Given the description of an element on the screen output the (x, y) to click on. 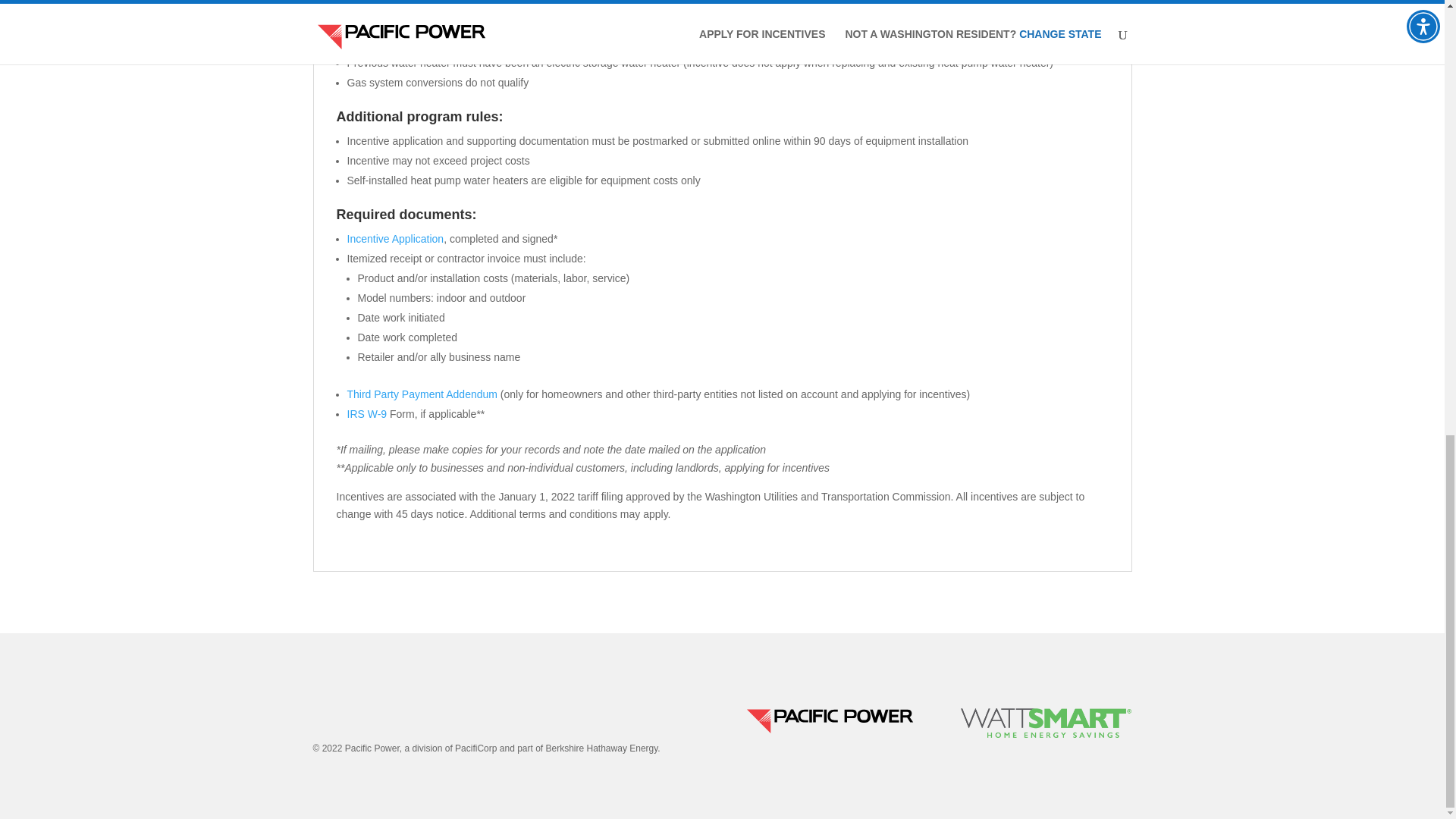
Third Party Payment Addendum (422, 394)
Washington Technical Specifications Manual (864, 42)
Incentive Application (395, 238)
Find A Vendor tool (1047, 4)
IRS W-9 (367, 413)
